Given the description of an element on the screen output the (x, y) to click on. 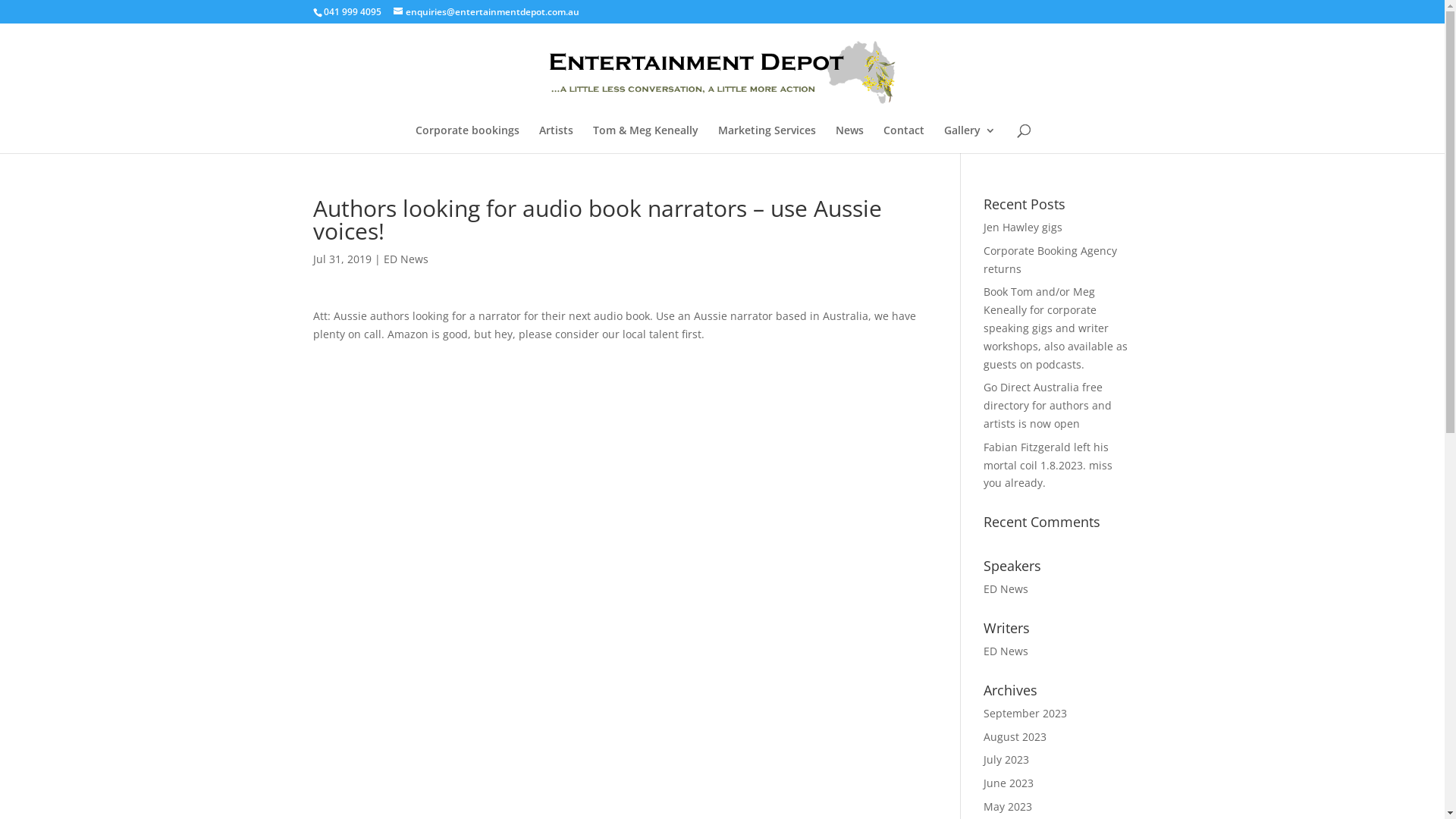
Corporate Booking Agency returns Element type: text (1050, 259)
ED News Element type: text (1005, 588)
Marketing Services Element type: text (766, 139)
Artists Element type: text (556, 139)
July 2023 Element type: text (1006, 759)
May 2023 Element type: text (1007, 806)
Tom & Meg Keneally Element type: text (645, 139)
Jen Hawley gigs Element type: text (1022, 226)
ED News Element type: text (1005, 650)
Contact Element type: text (903, 139)
Gallery Element type: text (969, 139)
June 2023 Element type: text (1008, 782)
Corporate bookings Element type: text (467, 139)
News Element type: text (849, 139)
enquiries@entertainmentdepot.com.au Element type: text (485, 11)
September 2023 Element type: text (1024, 713)
August 2023 Element type: text (1014, 736)
ED News Element type: text (405, 258)
